Given the description of an element on the screen output the (x, y) to click on. 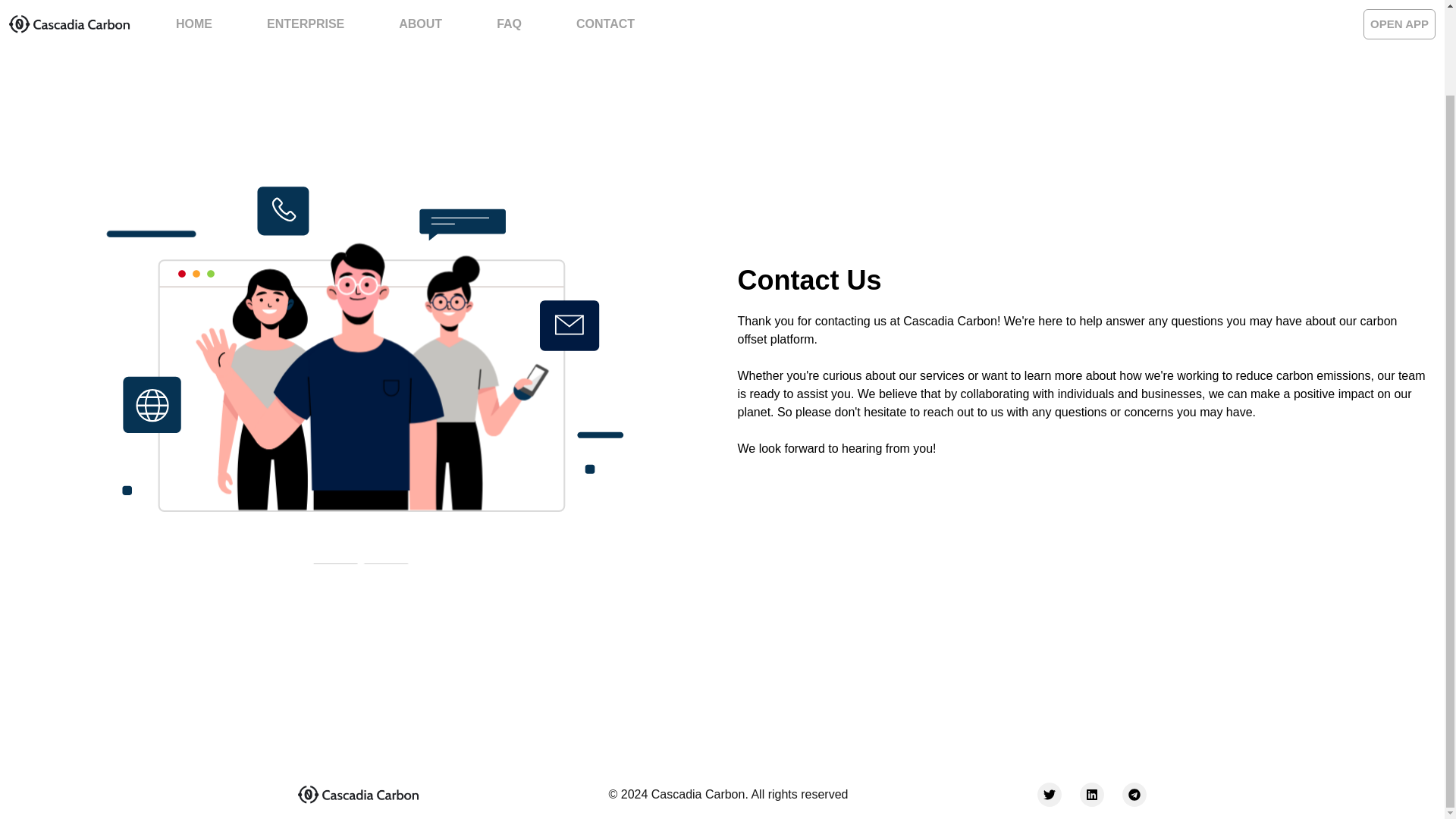
LinkedIn (1091, 794)
Twitter (1048, 794)
Telegram (1134, 794)
